Given the description of an element on the screen output the (x, y) to click on. 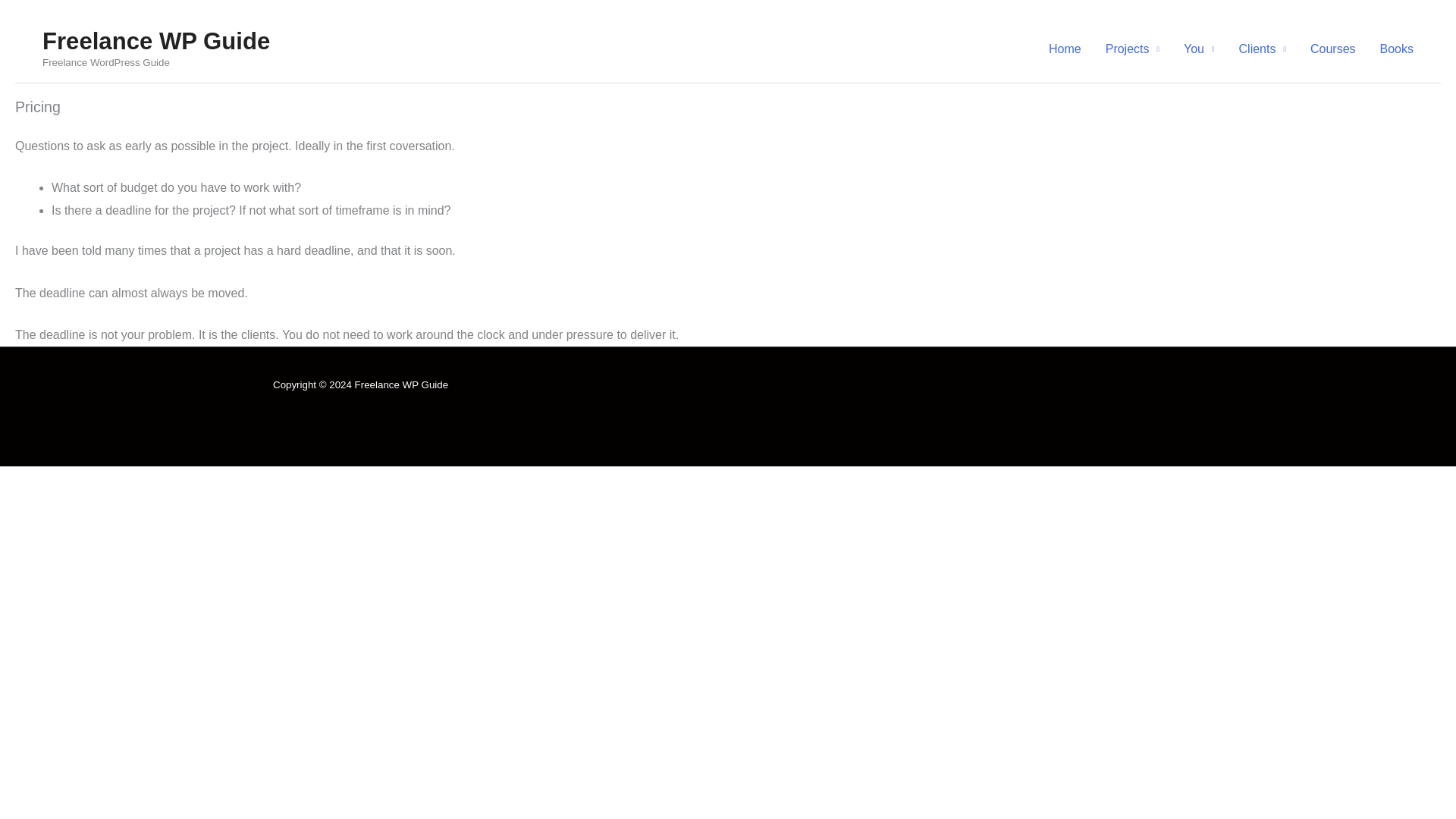
Home (1064, 49)
Clients (1262, 49)
You (1199, 49)
Courses (1333, 49)
Freelance WP Guide (155, 40)
Books (1396, 49)
Projects (1132, 49)
